Given the description of an element on the screen output the (x, y) to click on. 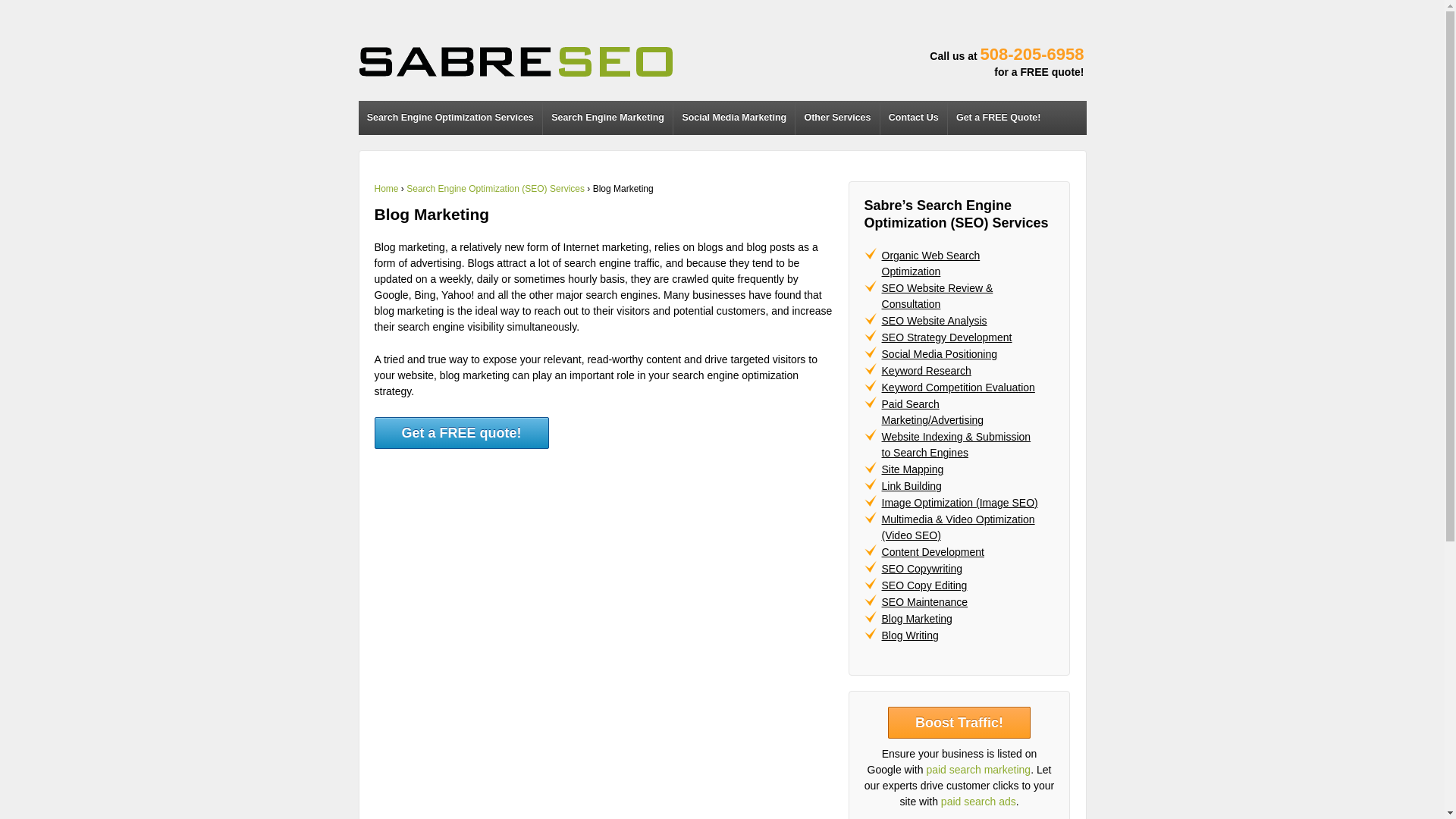
Other Services (836, 117)
Social Media Marketing (733, 117)
Search Engine Optimization Services (449, 117)
Search Engine Marketing (606, 117)
Contact Us (913, 117)
